Given the description of an element on the screen output the (x, y) to click on. 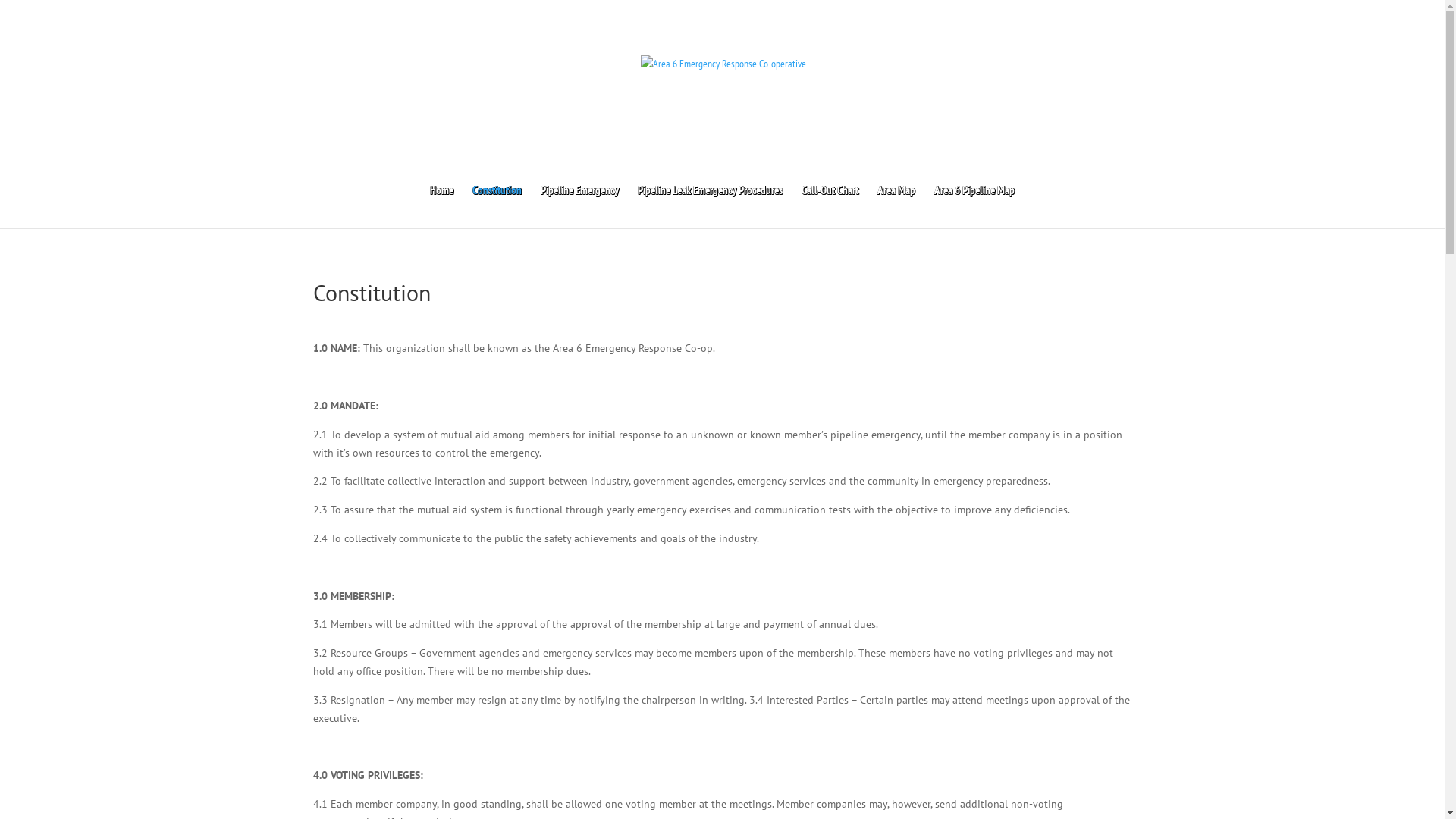
Pipeline Emergency Element type: text (579, 206)
Area Map Element type: text (896, 206)
Pipeline Leak Emergency Procedures Element type: text (709, 206)
Call-Out Chart Element type: text (829, 206)
Constitution Element type: text (496, 206)
Area 6 Pipeline Map Element type: text (974, 206)
Home Element type: text (441, 206)
